Given the description of an element on the screen output the (x, y) to click on. 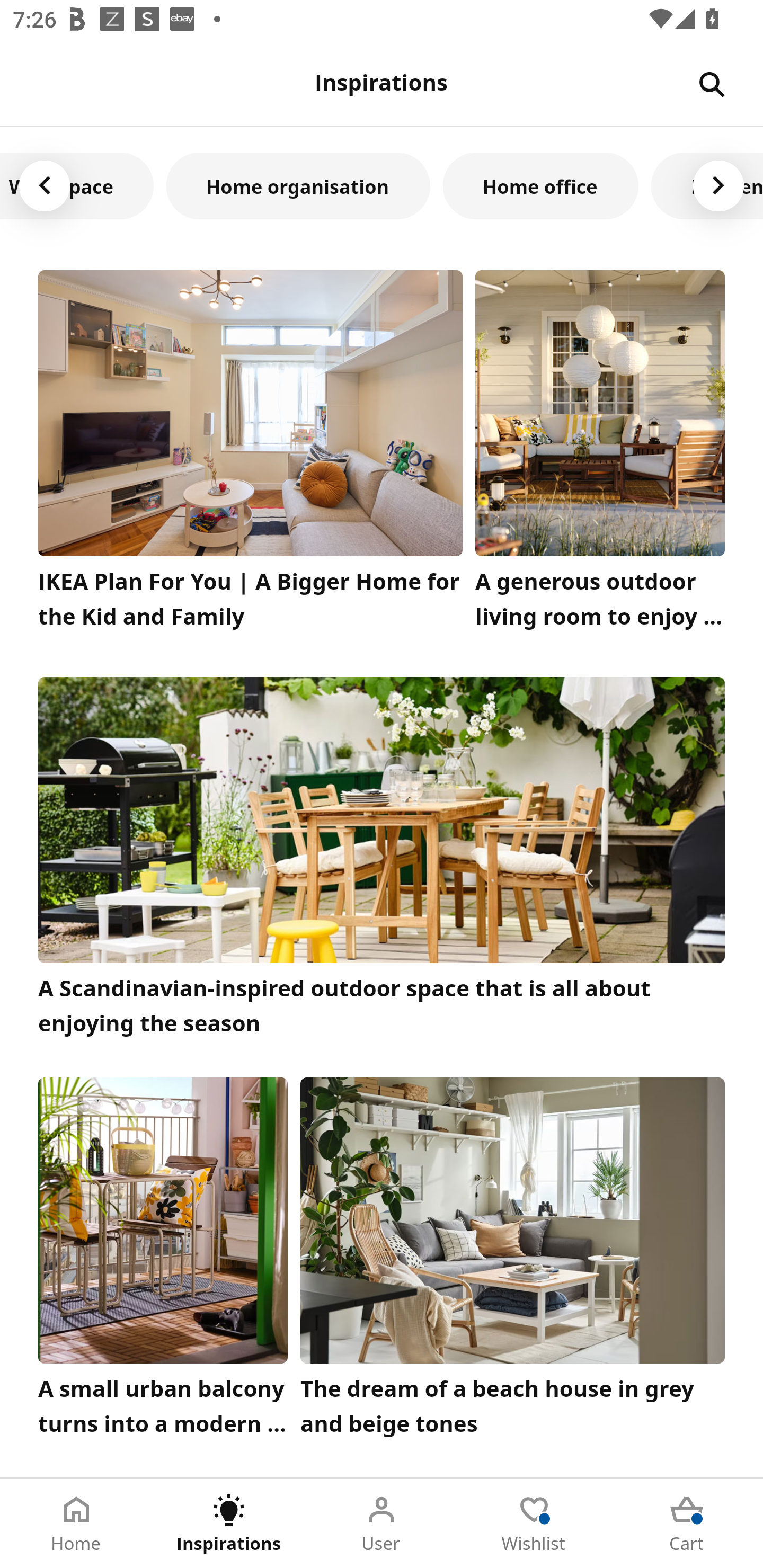
Home organisation (298, 185)
Home office (540, 185)
The dream of a beach house in grey and beige tones (512, 1261)
Home
Tab 1 of 5 (76, 1522)
Inspirations
Tab 2 of 5 (228, 1522)
User
Tab 3 of 5 (381, 1522)
Wishlist
Tab 4 of 5 (533, 1522)
Cart
Tab 5 of 5 (686, 1522)
